Given the description of an element on the screen output the (x, y) to click on. 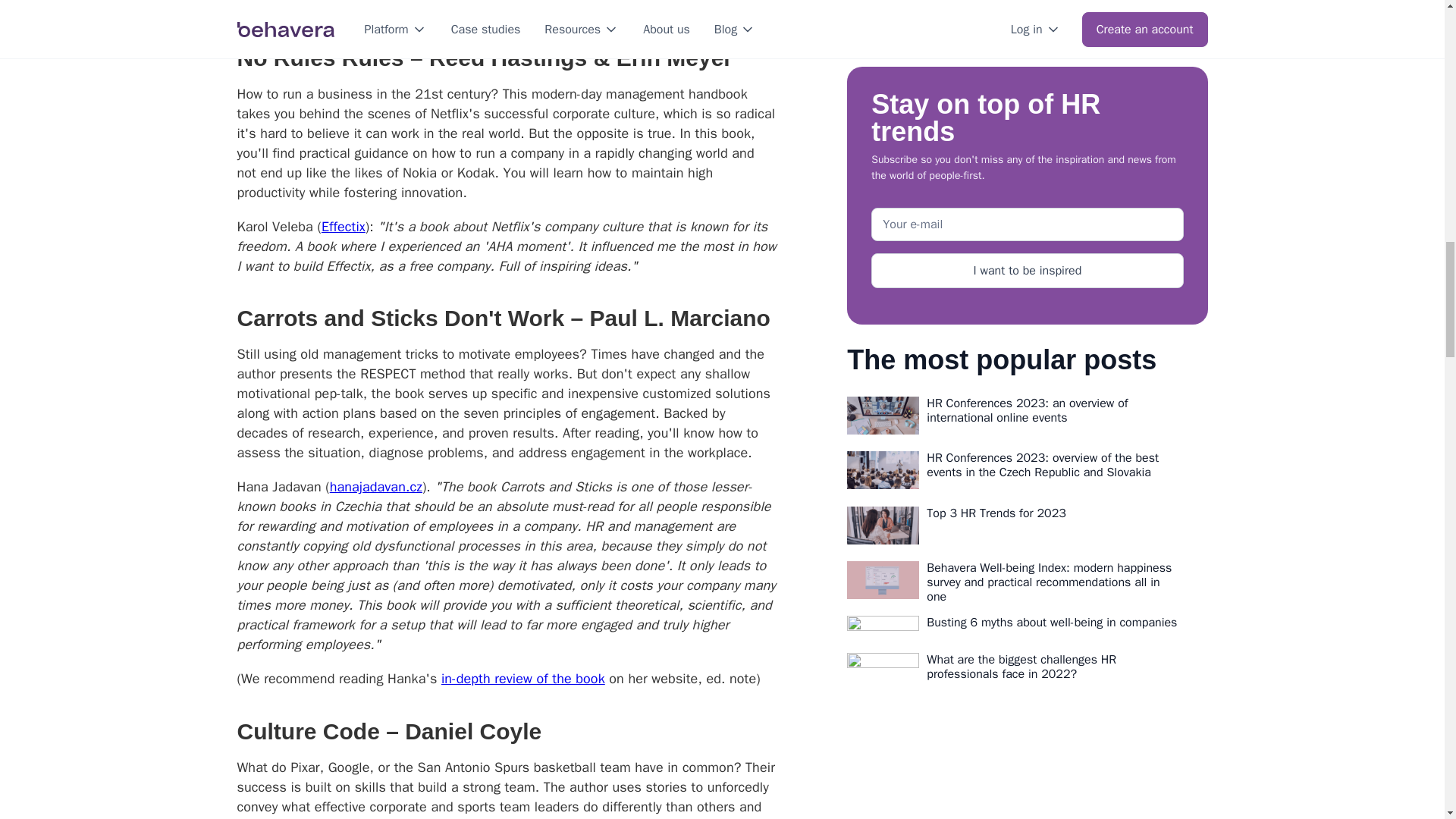
in-depth review of the book (523, 678)
hanajadavan.cz (376, 486)
Effectix (343, 226)
